Given the description of an element on the screen output the (x, y) to click on. 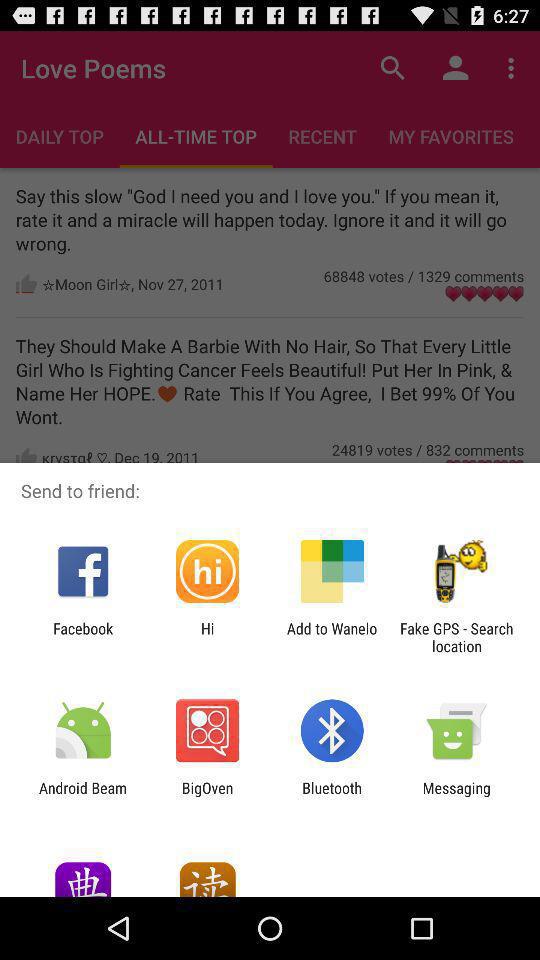
click app to the right of the android beam (207, 796)
